Given the description of an element on the screen output the (x, y) to click on. 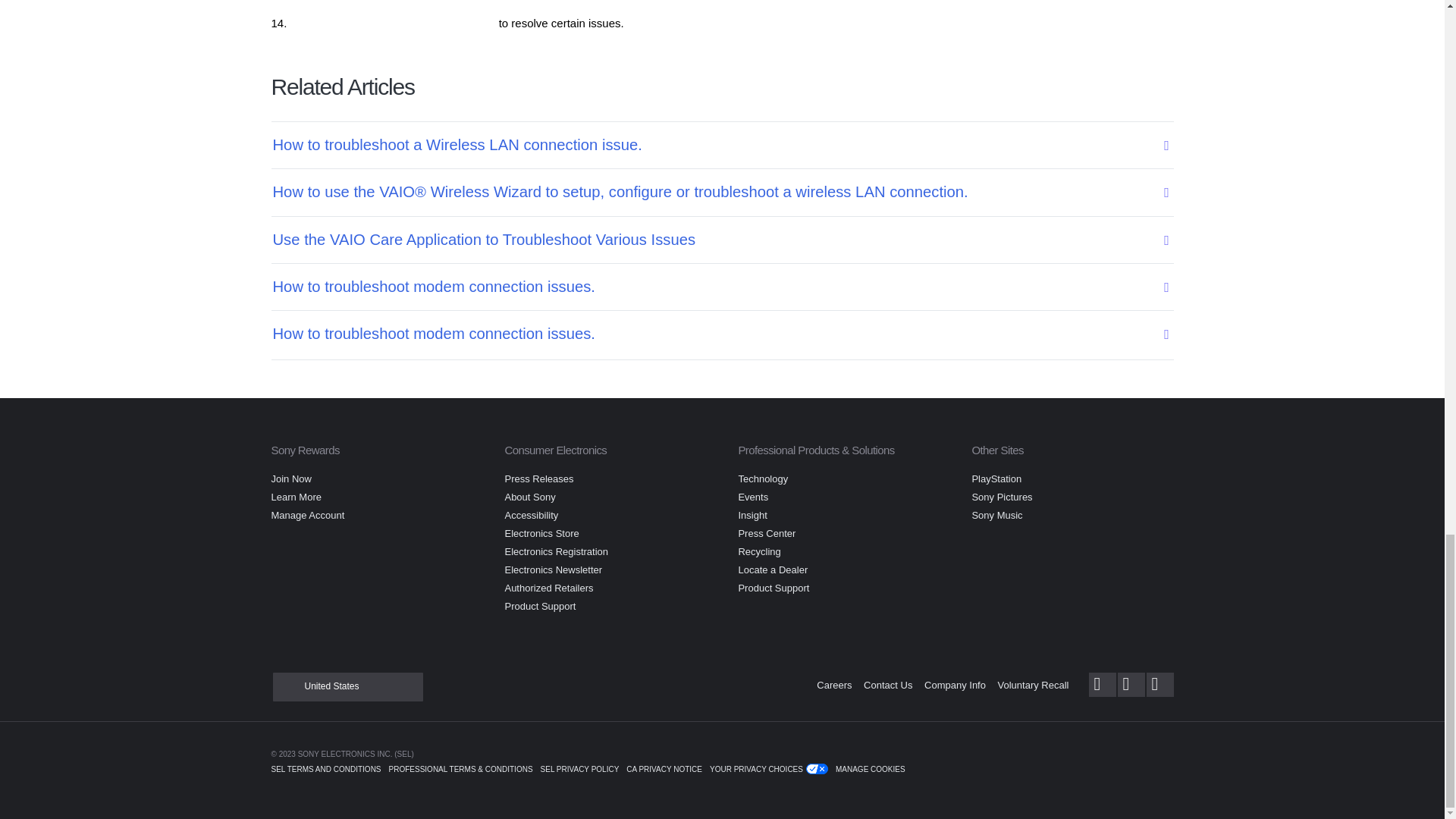
Learn More (295, 496)
Press Releases (538, 478)
Accessibility (530, 514)
Electronics Newsletter (552, 569)
About Sony (528, 496)
Manage Account (307, 514)
Electronics Registration (555, 551)
Join Now (290, 478)
Electronics Store (540, 532)
